Given the description of an element on the screen output the (x, y) to click on. 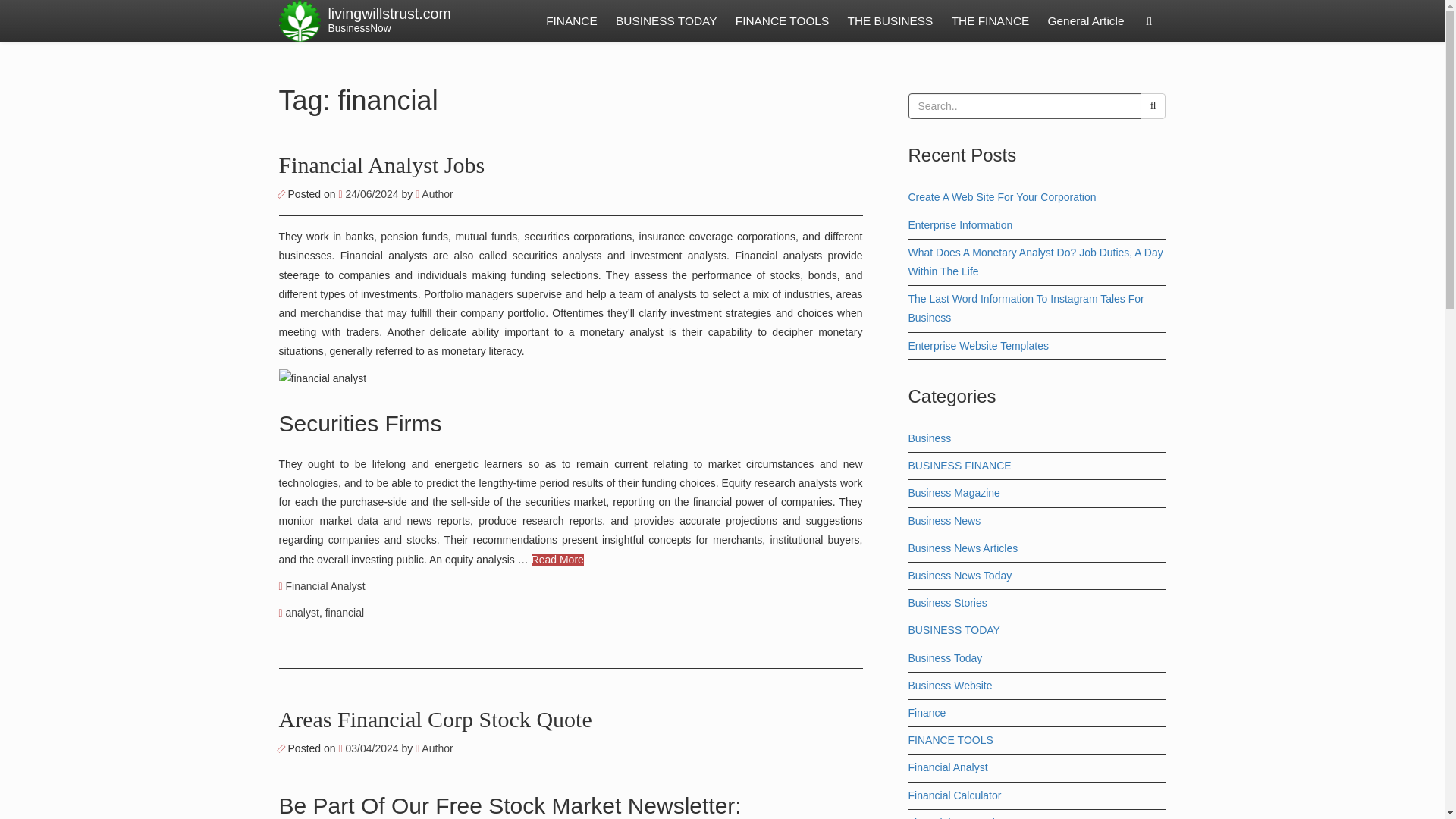
Financial Analyst (325, 585)
FINANCE TOOLS (781, 20)
THE BUSINESS (890, 20)
BUSINESS TODAY (665, 20)
analyst (301, 612)
THE FINANCE (989, 20)
Read More (557, 559)
financial (344, 612)
FINANCE (571, 20)
Financial Analyst Jobs (381, 164)
